Given the description of an element on the screen output the (x, y) to click on. 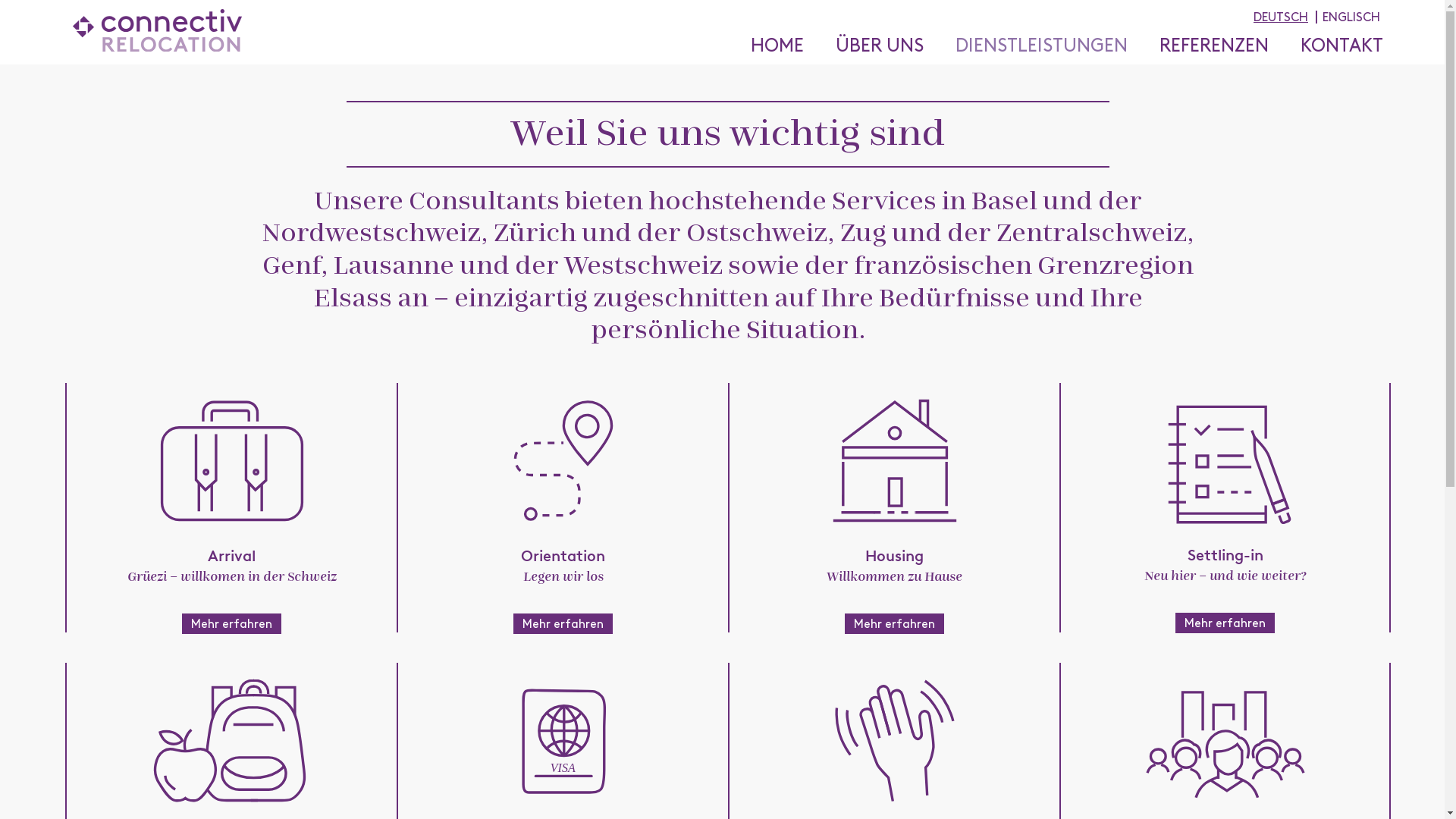
Mehr erfahren Element type: text (1224, 622)
HOME Element type: text (790, 45)
Mehr erfahren Element type: text (894, 623)
DEUTSCH Element type: text (1280, 20)
REFERENZEN Element type: text (1227, 45)
Mehr erfahren Element type: text (562, 623)
Housing
Willkommen zu Hause Element type: text (894, 499)
Mehr erfahren Element type: text (231, 623)
KONTAKT Element type: text (1341, 45)
ENGLISCH Element type: text (1351, 20)
Orientation
Legen wir los Element type: text (562, 499)
